Given the description of an element on the screen output the (x, y) to click on. 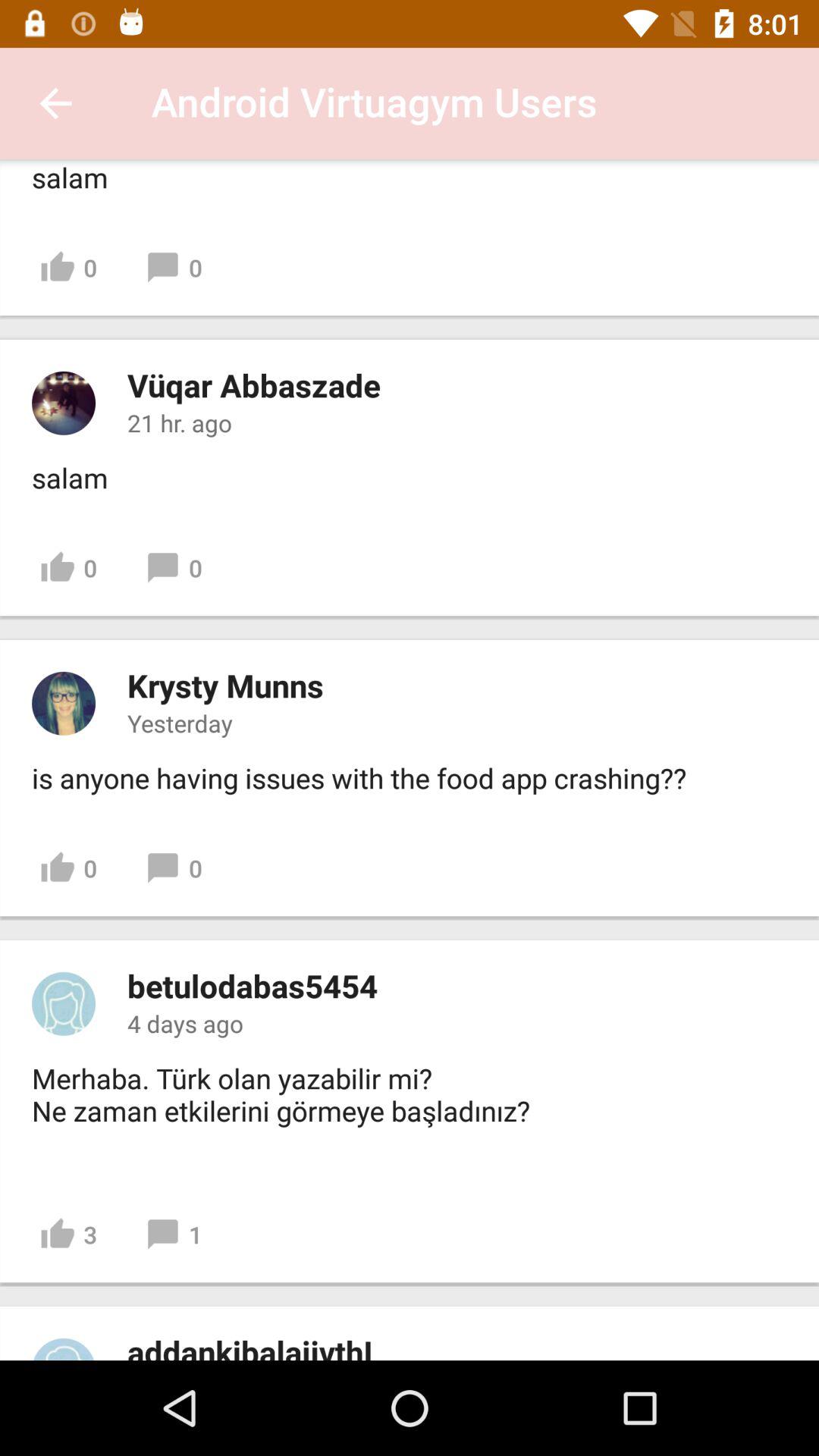
view profile (63, 403)
